Given the description of an element on the screen output the (x, y) to click on. 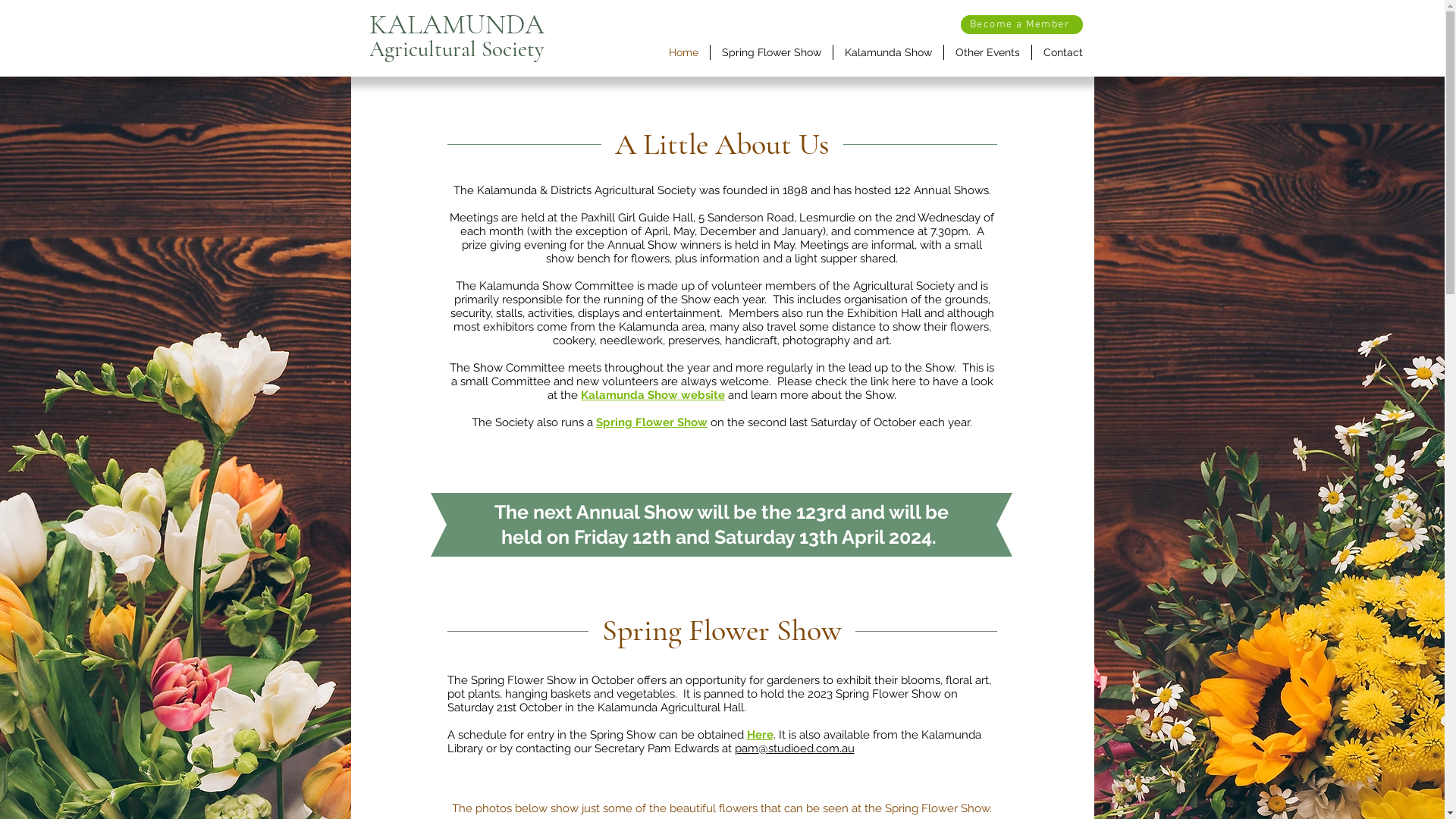
Home Element type: text (682, 51)
Kalamunda Show website Element type: text (652, 394)
Contact Element type: text (1062, 51)
Here Element type: text (759, 734)
pam@studioed.com.au Element type: text (793, 748)
Kalamunda Show Element type: text (887, 51)
KALAMUNDA Element type: text (455, 24)
Spring Flower Show Element type: text (770, 51)
Become a Member Element type: text (1021, 24)
Other Events Element type: text (986, 51)
Agricultural Society Element type: text (455, 48)
